Given the description of an element on the screen output the (x, y) to click on. 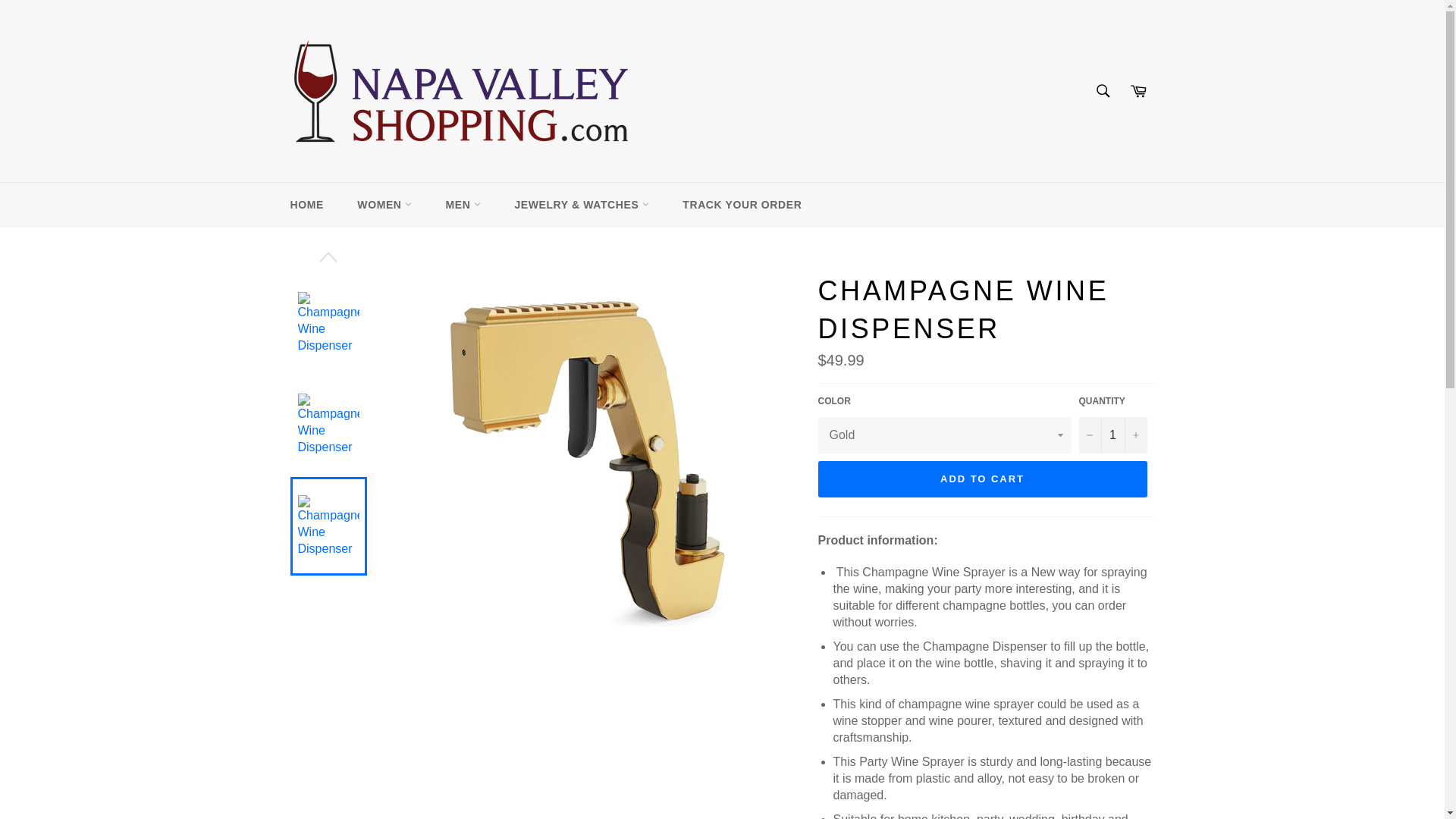
WOMEN (384, 204)
Search (1101, 91)
1 (1112, 434)
Cart (1138, 91)
HOME (306, 204)
